Given the description of an element on the screen output the (x, y) to click on. 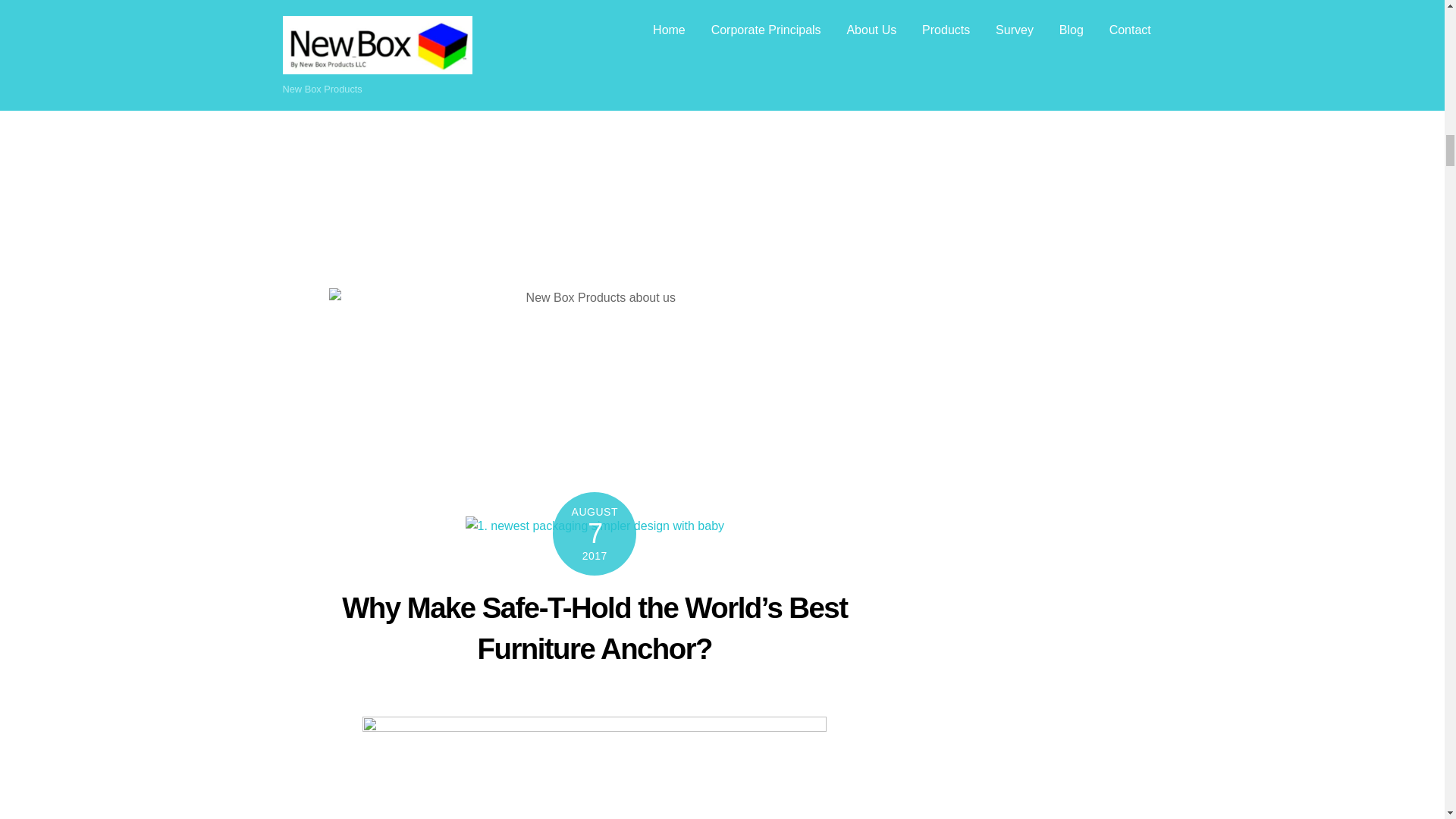
1. newest packaging simpler design with baby (595, 526)
